Given the description of an element on the screen output the (x, y) to click on. 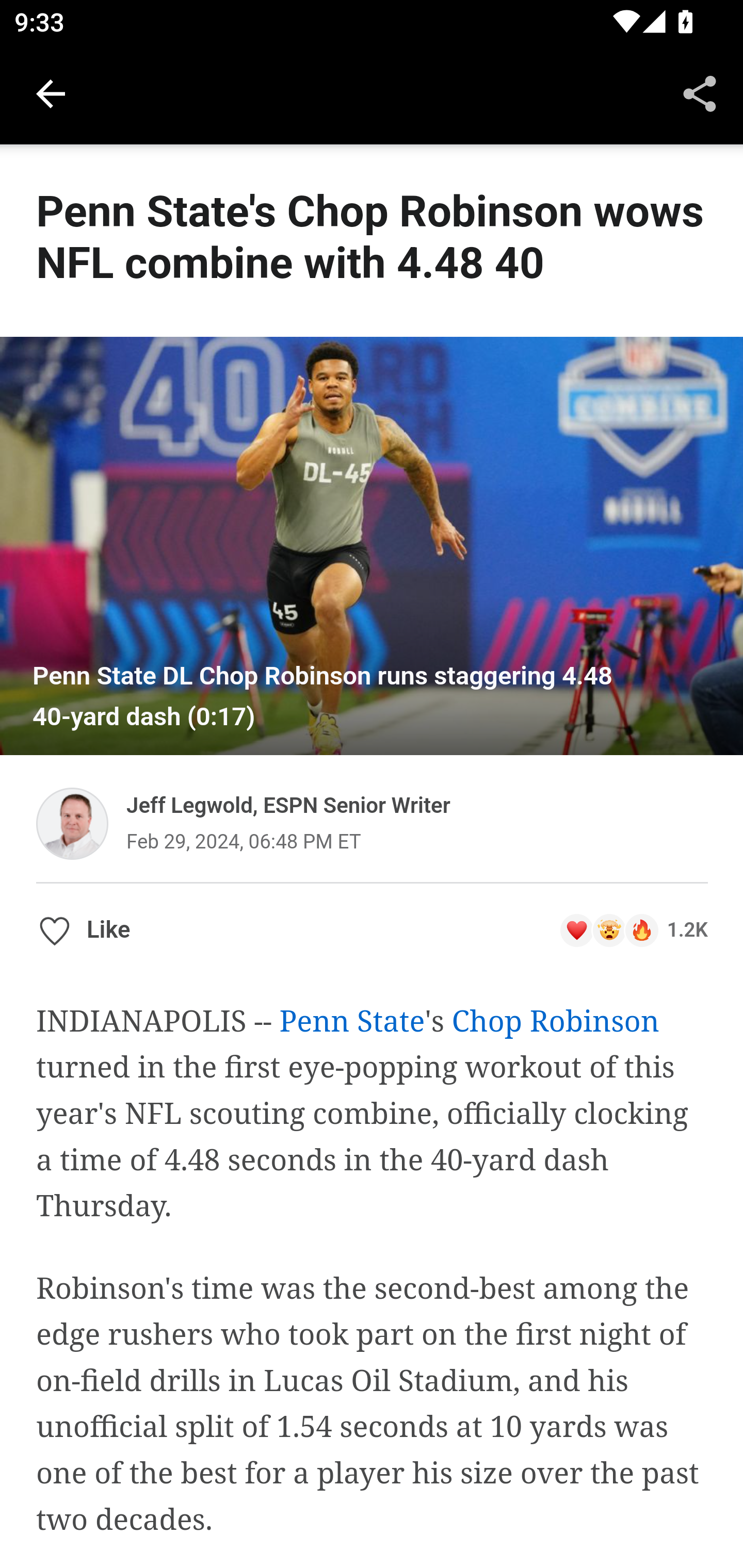
Navigate up (50, 93)
Share (699, 93)
